Given the description of an element on the screen output the (x, y) to click on. 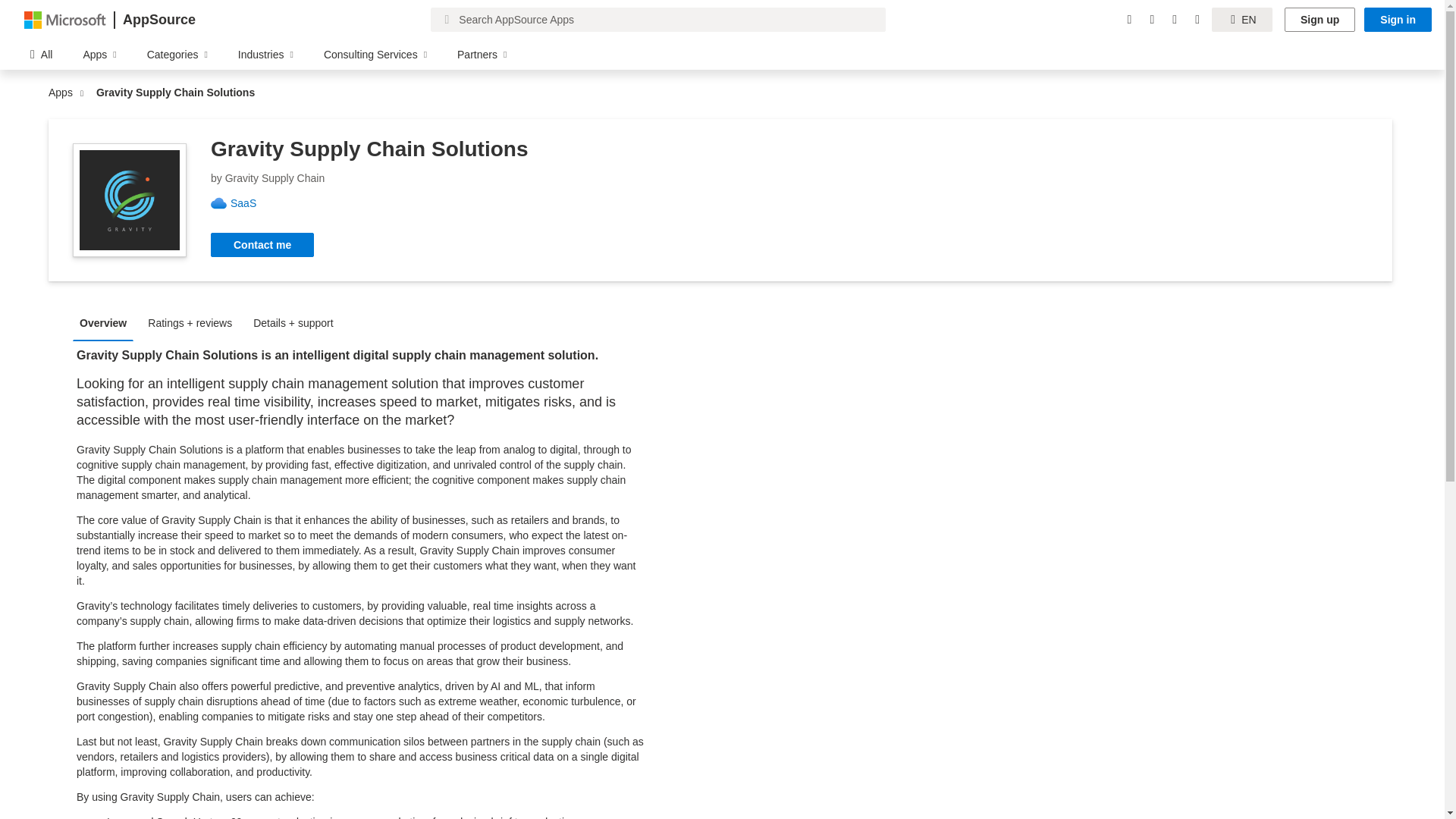
Apps (64, 92)
Sign up (1319, 19)
Sign in (1397, 19)
SaaS (248, 203)
Contact me (262, 244)
Overview (106, 322)
SaaS (248, 203)
AppSource (158, 19)
Microsoft (65, 18)
